Given the description of an element on the screen output the (x, y) to click on. 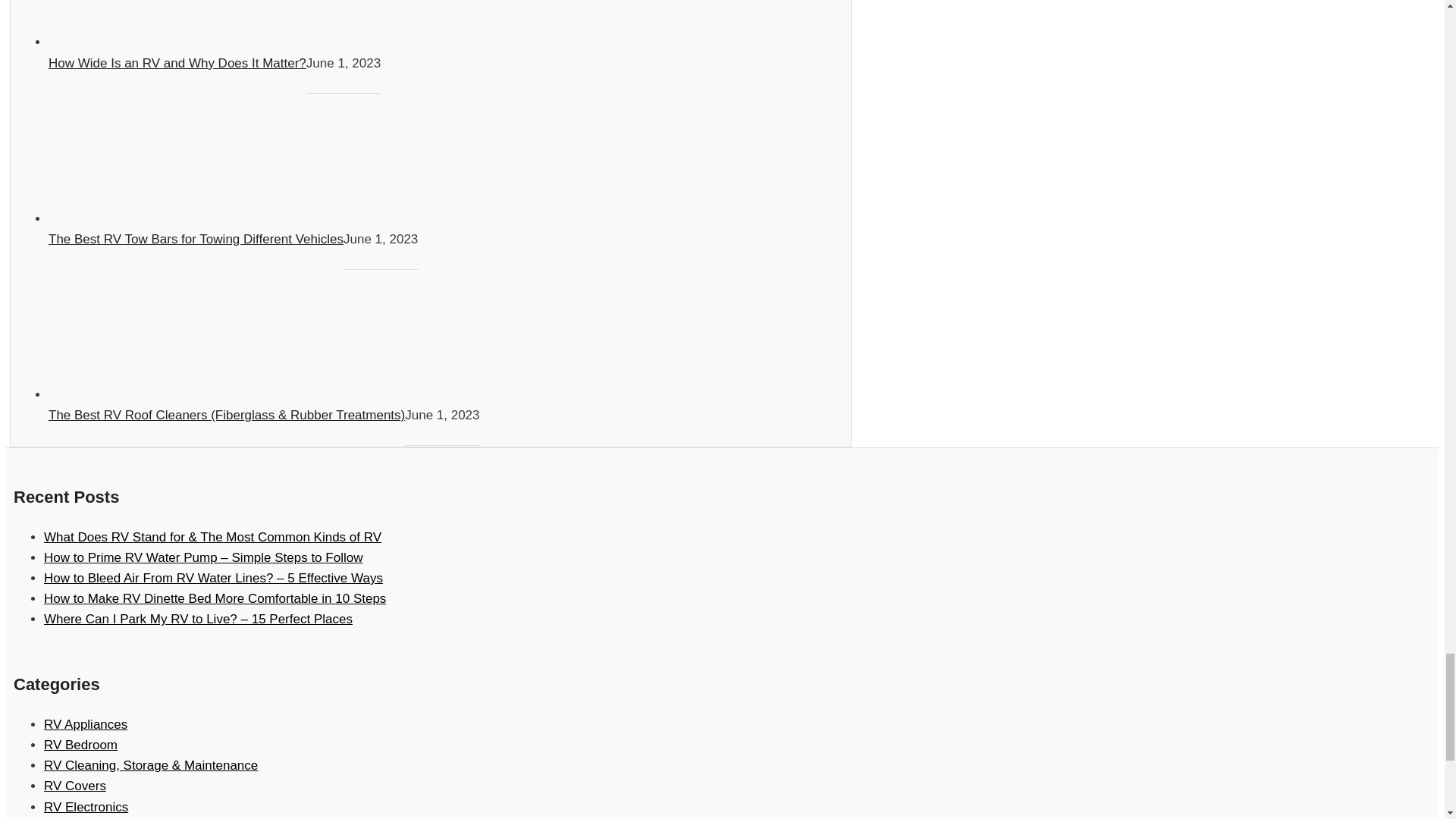
How Wide Is an RV and Why Does It Matter? (176, 63)
The Best RV Tow Bars for Towing Different Vehicles (195, 238)
